Given the description of an element on the screen output the (x, y) to click on. 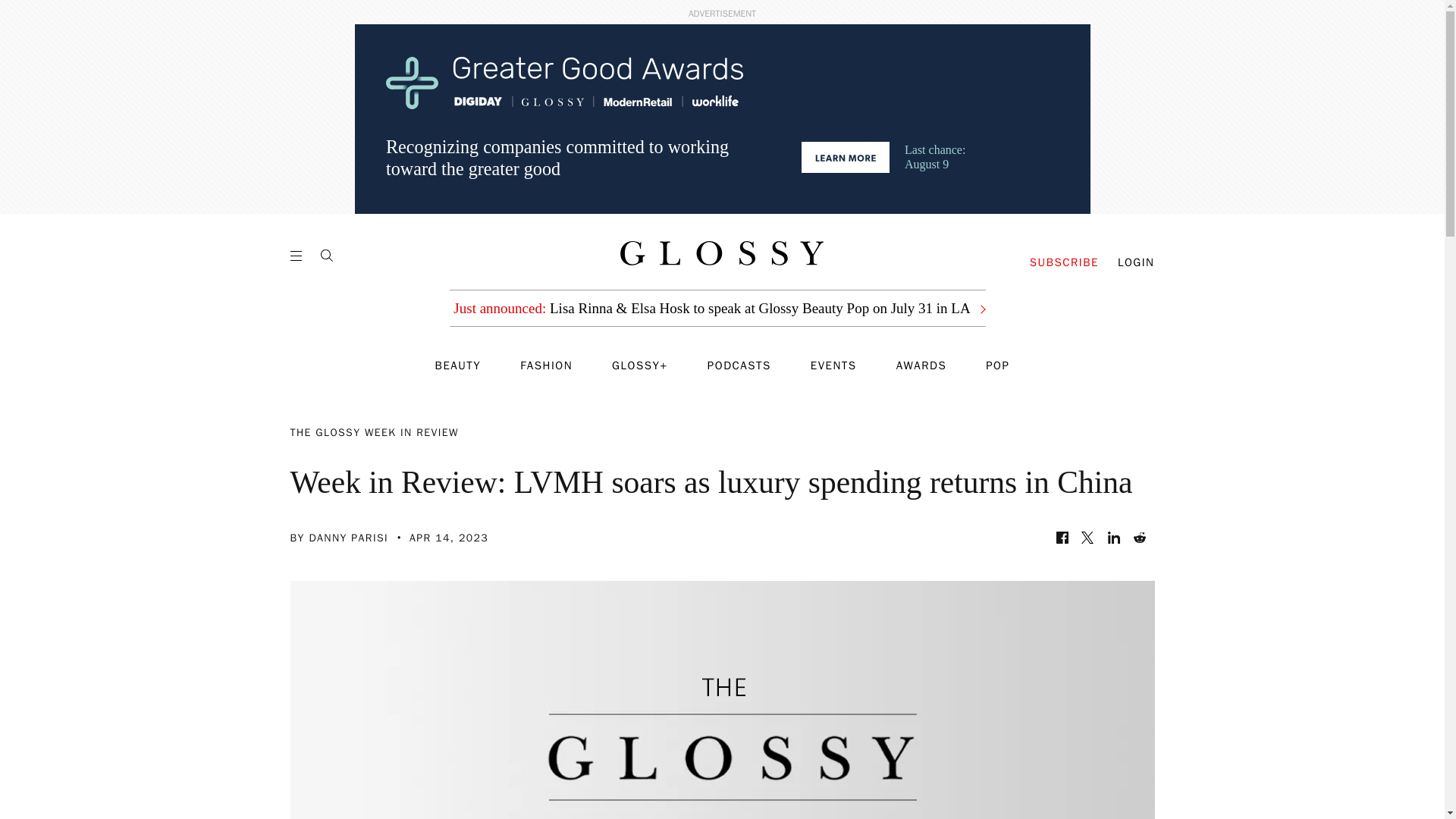
BEAUTY (458, 365)
FASHION (545, 365)
LOGIN (1136, 262)
SUBSCRIBE (1064, 262)
PODCASTS (739, 365)
EVENTS (833, 365)
POP (997, 365)
AWARDS (921, 365)
